Given the description of an element on the screen output the (x, y) to click on. 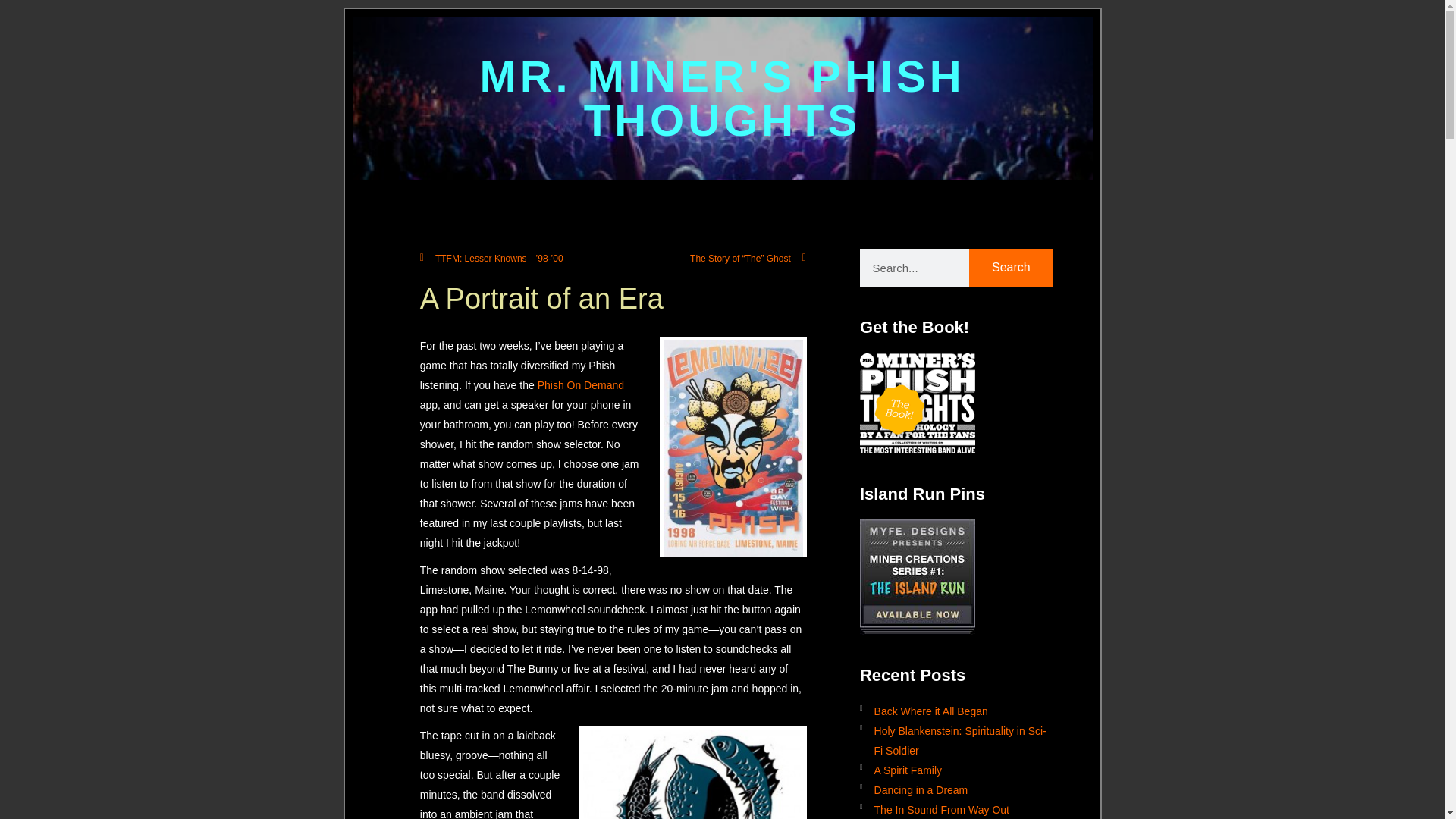
Dancing in a Dream (956, 789)
Phish On Demand (580, 385)
Back Where it All Began (956, 710)
The In Sound From Way Out (956, 809)
Holy Blankenstein: Spirituality in Sci-Fi Soldier (956, 740)
MR. MINER'S PHISH THOUGHTS (721, 97)
Search (1010, 267)
A Spirit Family (956, 769)
